Given the description of an element on the screen output the (x, y) to click on. 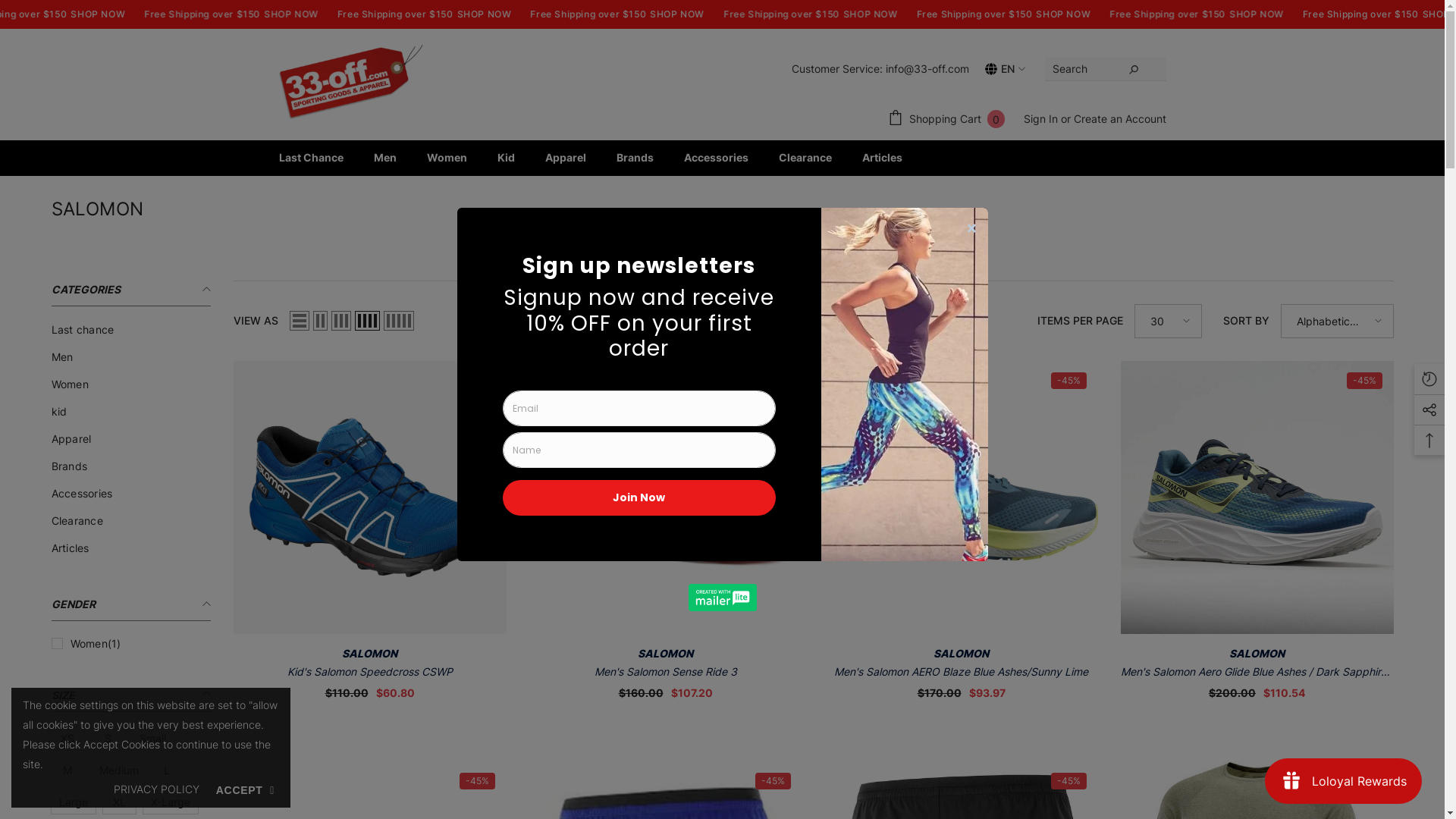
Articles Element type: text (881, 161)
EN Element type: text (1004, 68)
SALOMON Element type: text (1256, 652)
SHOP NOW Element type: text (492, 14)
Brands Element type: text (69, 466)
Apparel Element type: text (564, 161)
Men's Salomon AERO Blaze Blue ashes/Sunny Lime Element type: hover (961, 496)
SHOP NOW Element type: text (1202, 14)
Kid's Salomon Speedcross CSWP Element type: hover (369, 496)
Accessories Element type: text (715, 161)
SHOP NOW Element type: text (676, 14)
kid Element type: text (59, 411)
Last Chance Element type: text (310, 161)
Last chance Element type: text (82, 329)
Kid Element type: text (506, 161)
Kid'S Salomon Speedcross CSWP Element type: text (369, 671)
Create an Account Element type: text (1119, 118)
PRIVACY POLICY Element type: text (156, 789)
Shopping Cart 0
0 items Element type: text (945, 118)
Apparel Element type: text (71, 438)
Men Element type: text (62, 356)
Women Element type: text (446, 161)
SALOMON Element type: text (960, 652)
Clearance Element type: text (77, 520)
Clearance Element type: text (804, 161)
SHOP NOW Element type: text (856, 14)
Men'S Salomon Sense Ride 3 Element type: text (665, 671)
Brands Element type: text (634, 161)
Men's  Salomon Sense Ride 3 Element type: hover (665, 496)
Articles Element type: text (70, 547)
Sign In Element type: text (1040, 118)
SHOP NOW Element type: text (124, 14)
Men Element type: text (384, 161)
SHOP NOW Element type: text (1017, 14)
Men'S Salomon AERO Blaze Blue Ashes/Sunny Lime Element type: text (961, 671)
SHOP NOW Element type: text (1383, 14)
SHOP NOW Element type: text (309, 14)
Women Element type: text (69, 384)
SALOMON Element type: text (369, 652)
Accessories Element type: text (81, 493)
SALOMON Element type: text (665, 652)
